Given the description of an element on the screen output the (x, y) to click on. 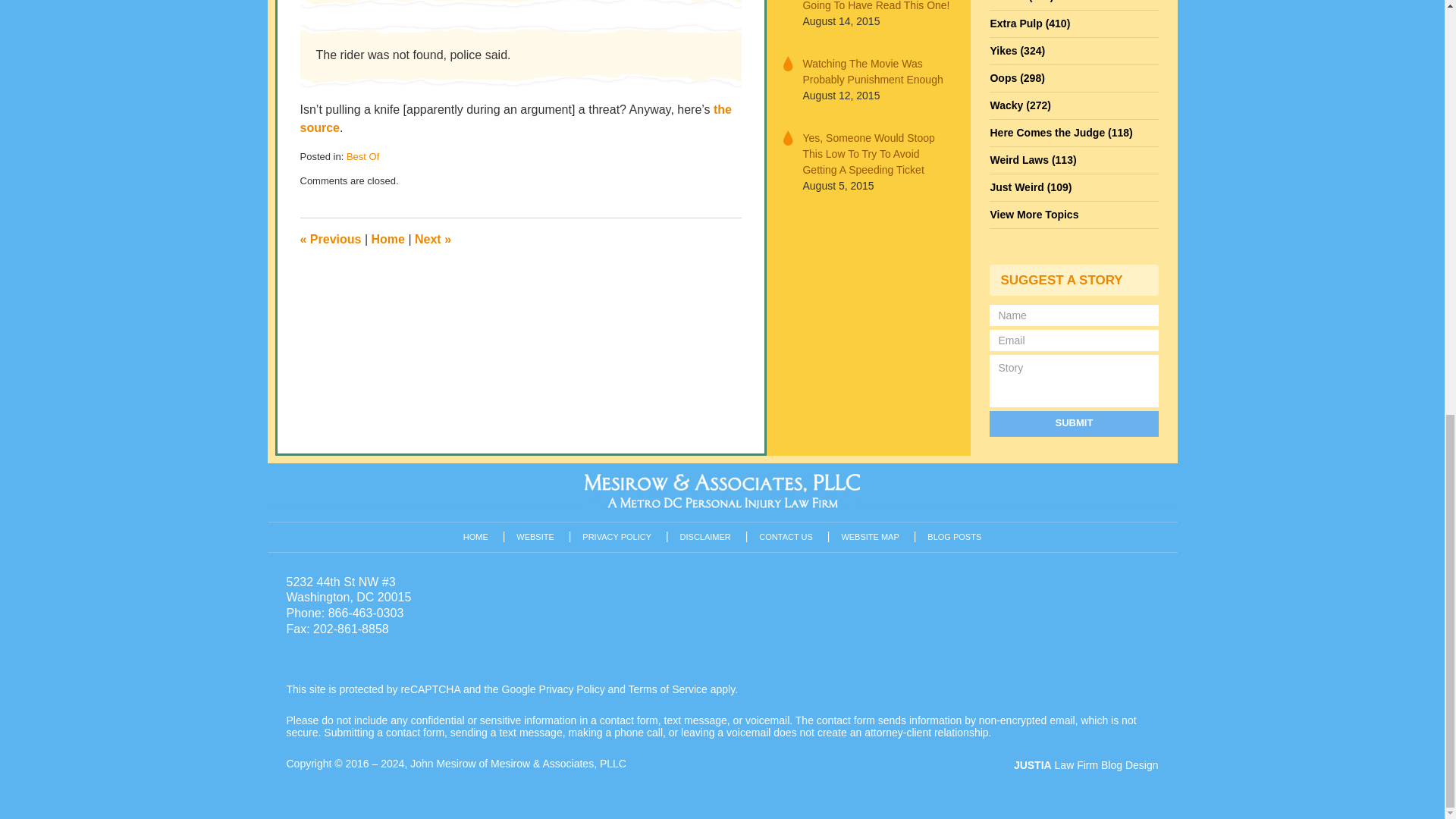
Best Of (362, 156)
View all posts in Best Of (362, 156)
He Outlawed All-You-Can-Eat Buffets. Really. (330, 238)
Home (387, 238)
the source (515, 118)
Watching The Movie Was Probably Punishment Enough (877, 71)
Know When To Say When (432, 238)
